Given the description of an element on the screen output the (x, y) to click on. 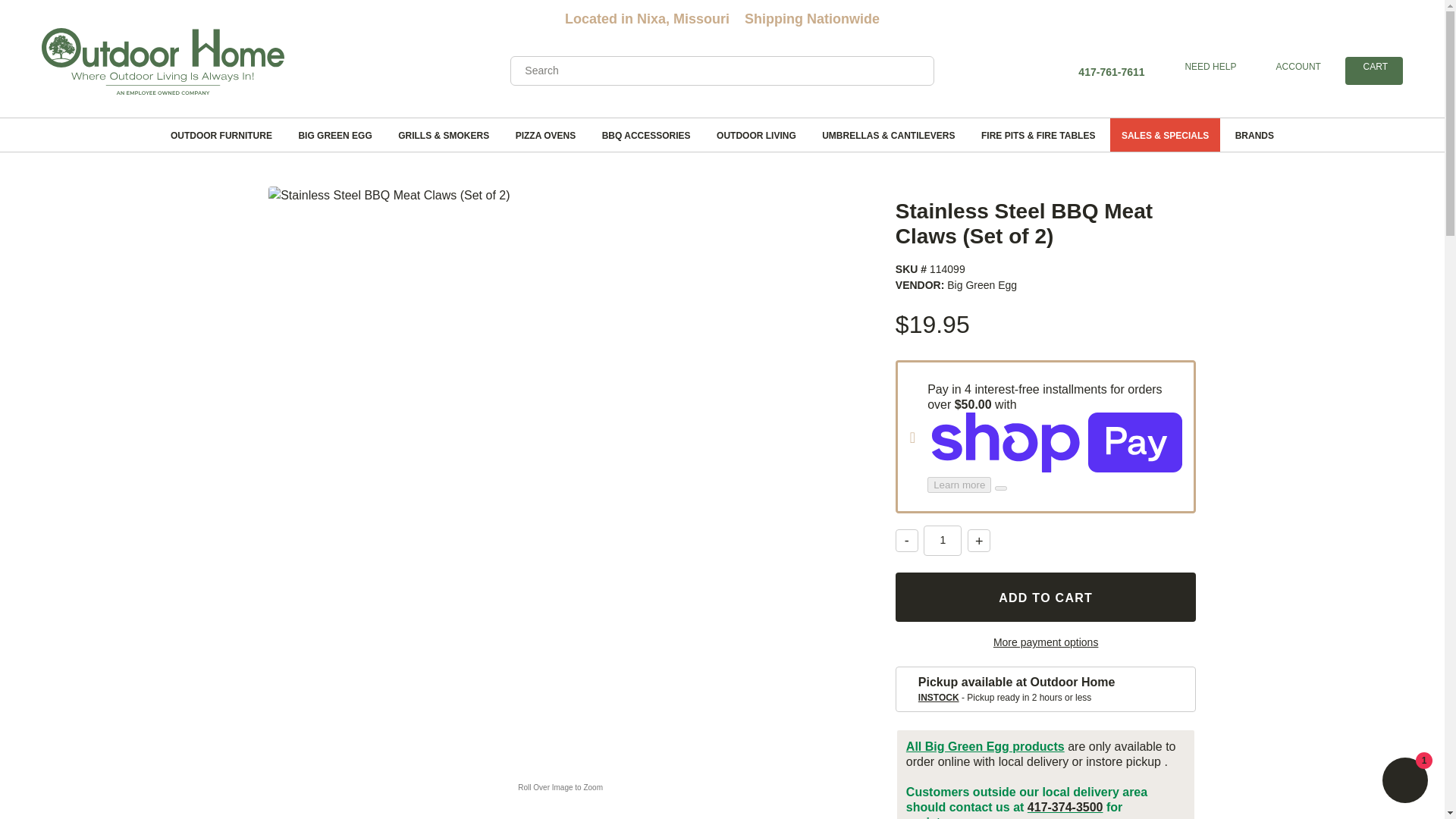
 417-761-7611 (1109, 71)
1 (941, 540)
Shopify online store chat (1404, 781)
 NEED HELP (1208, 66)
